Given the description of an element on the screen output the (x, y) to click on. 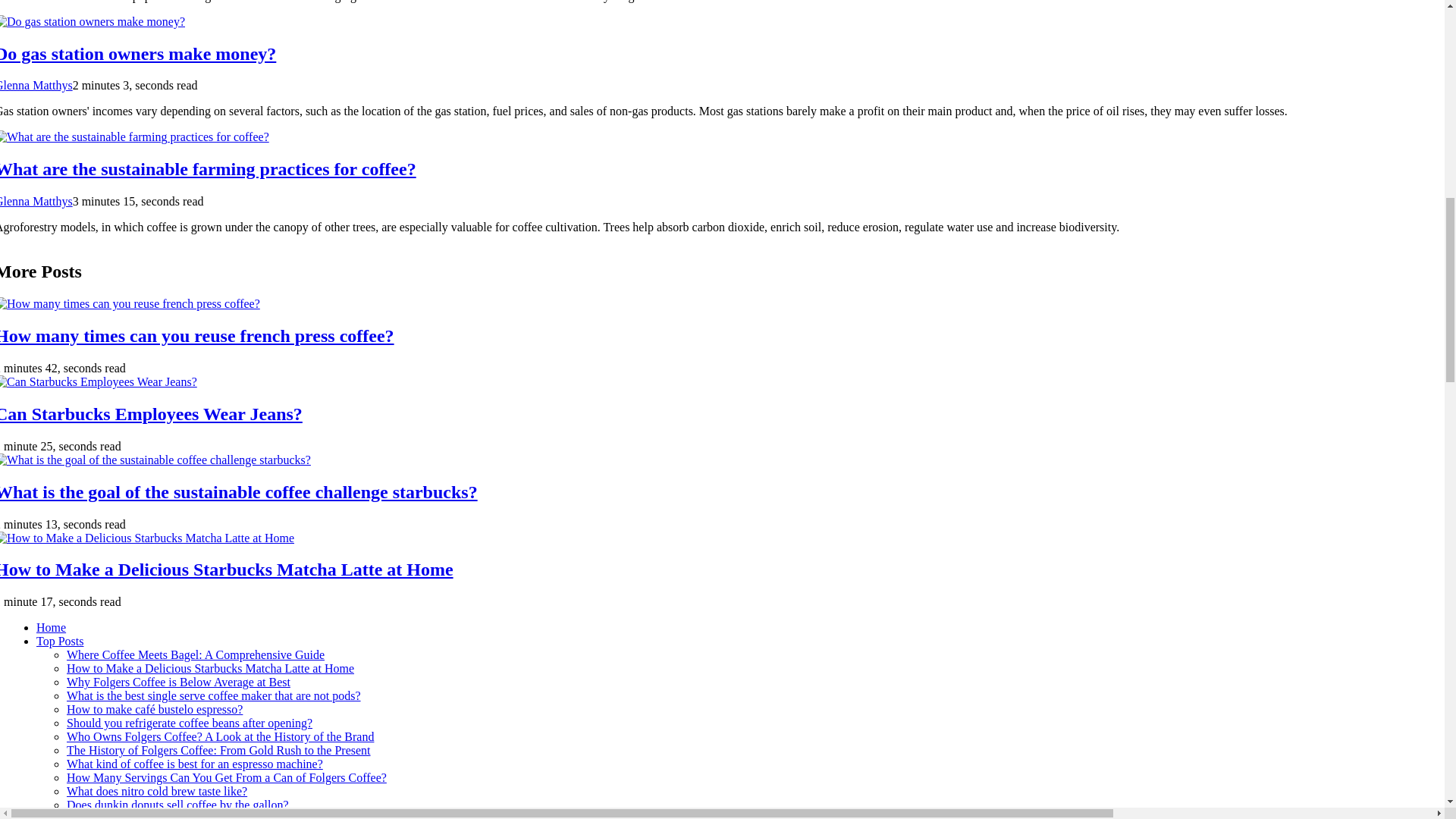
How many times can you reuse french press coffee? (197, 335)
What are the sustainable farming practices for coffee? (208, 168)
Where Coffee Meets Bagel: A Comprehensive Guide (195, 654)
Home (50, 626)
What kind of coffee is best for an espresso machine? (194, 763)
What does nitro cold brew taste like? (156, 790)
The History of Folgers Coffee: From Gold Rush to the Present (218, 749)
Posts by Glenna Matthys (36, 201)
Can Starbucks Employees Wear Jeans? (151, 414)
Glenna Matthys (36, 84)
